Given the description of an element on the screen output the (x, y) to click on. 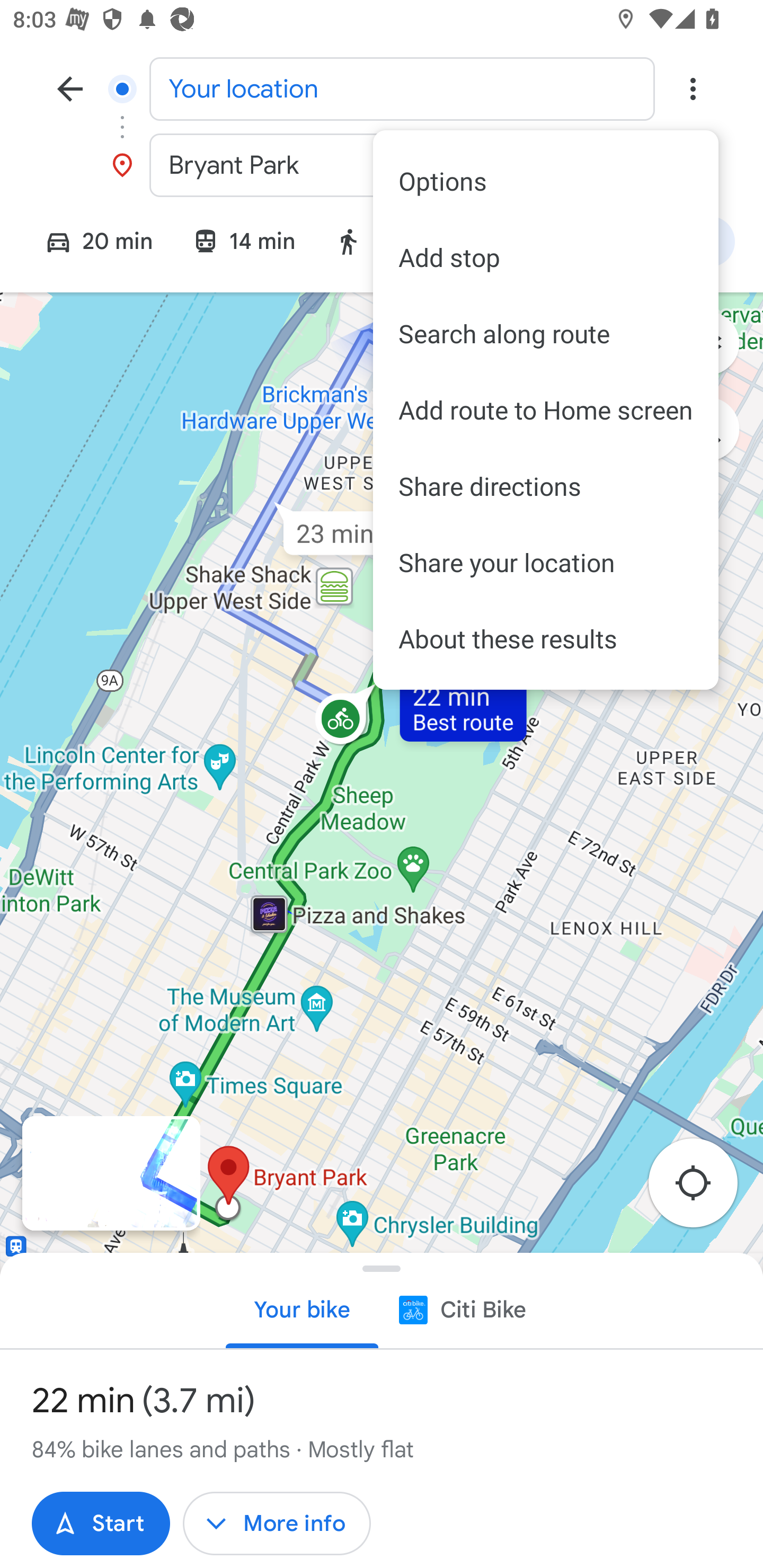
Options (545, 180)
Add stop (545, 257)
Search along route (545, 333)
Add route to Home screen (545, 409)
Share directions (545, 485)
Share your location (545, 561)
About these results (545, 638)
